Given the description of an element on the screen output the (x, y) to click on. 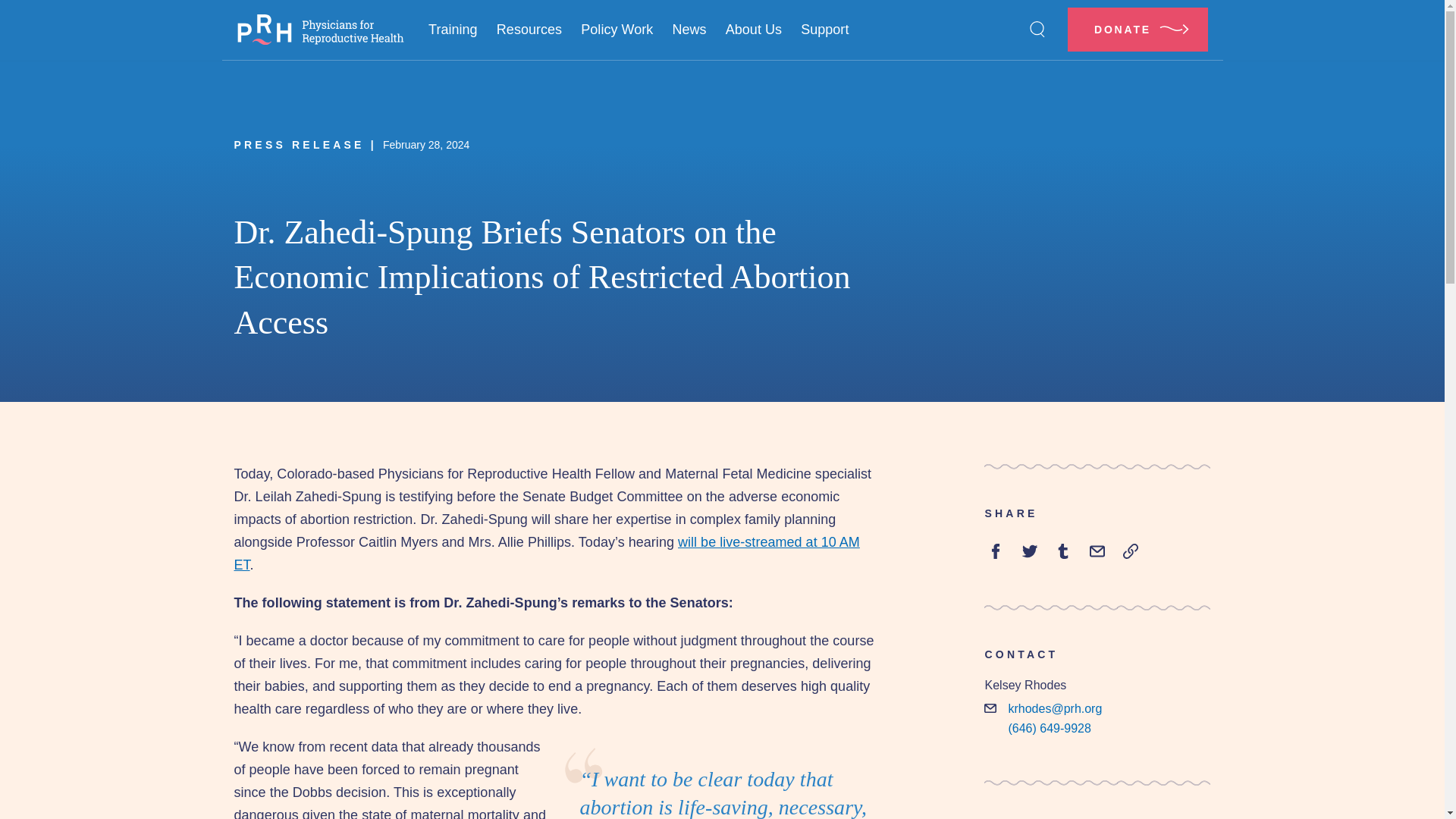
Copy link (1130, 550)
Physicians for Reproductive Health: Homepage (319, 29)
Email link (1096, 550)
Policy Work (617, 29)
Training (452, 29)
Support (825, 29)
About Us (753, 29)
Resources (528, 29)
DONATE (1137, 29)
Search (1037, 29)
